Given the description of an element on the screen output the (x, y) to click on. 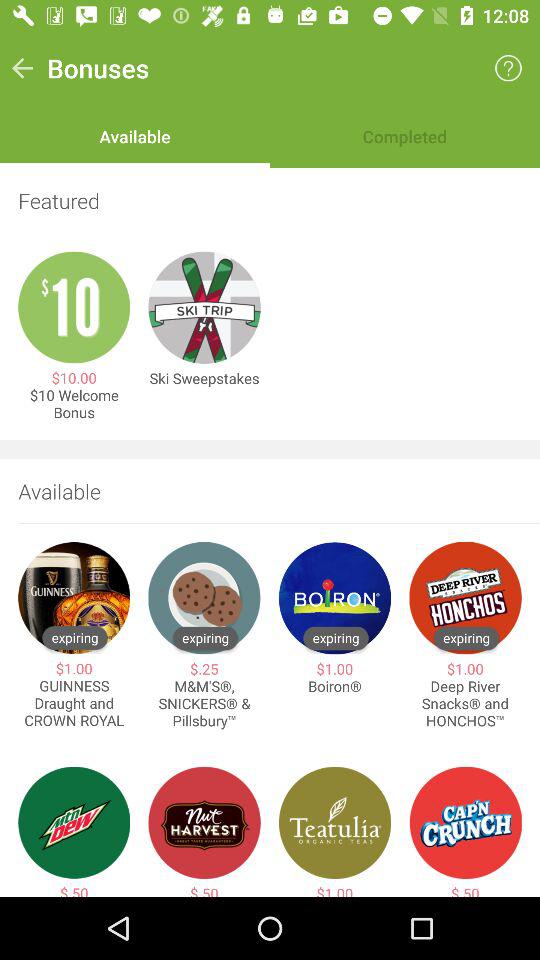
turn off featured item (270, 200)
